Given the description of an element on the screen output the (x, y) to click on. 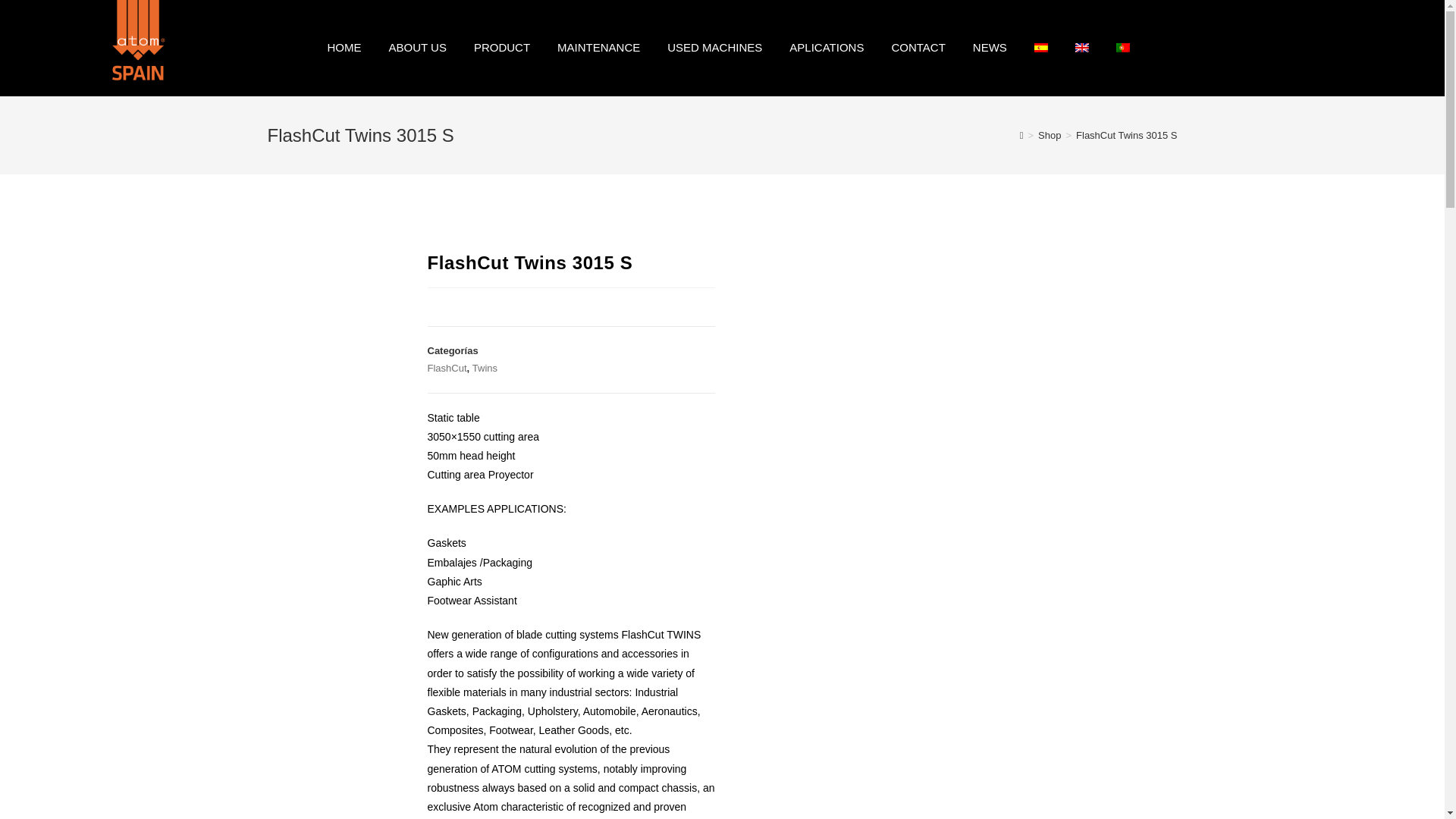
ABOUT US (417, 47)
PRODUCT (501, 47)
HOME (344, 47)
